Given the description of an element on the screen output the (x, y) to click on. 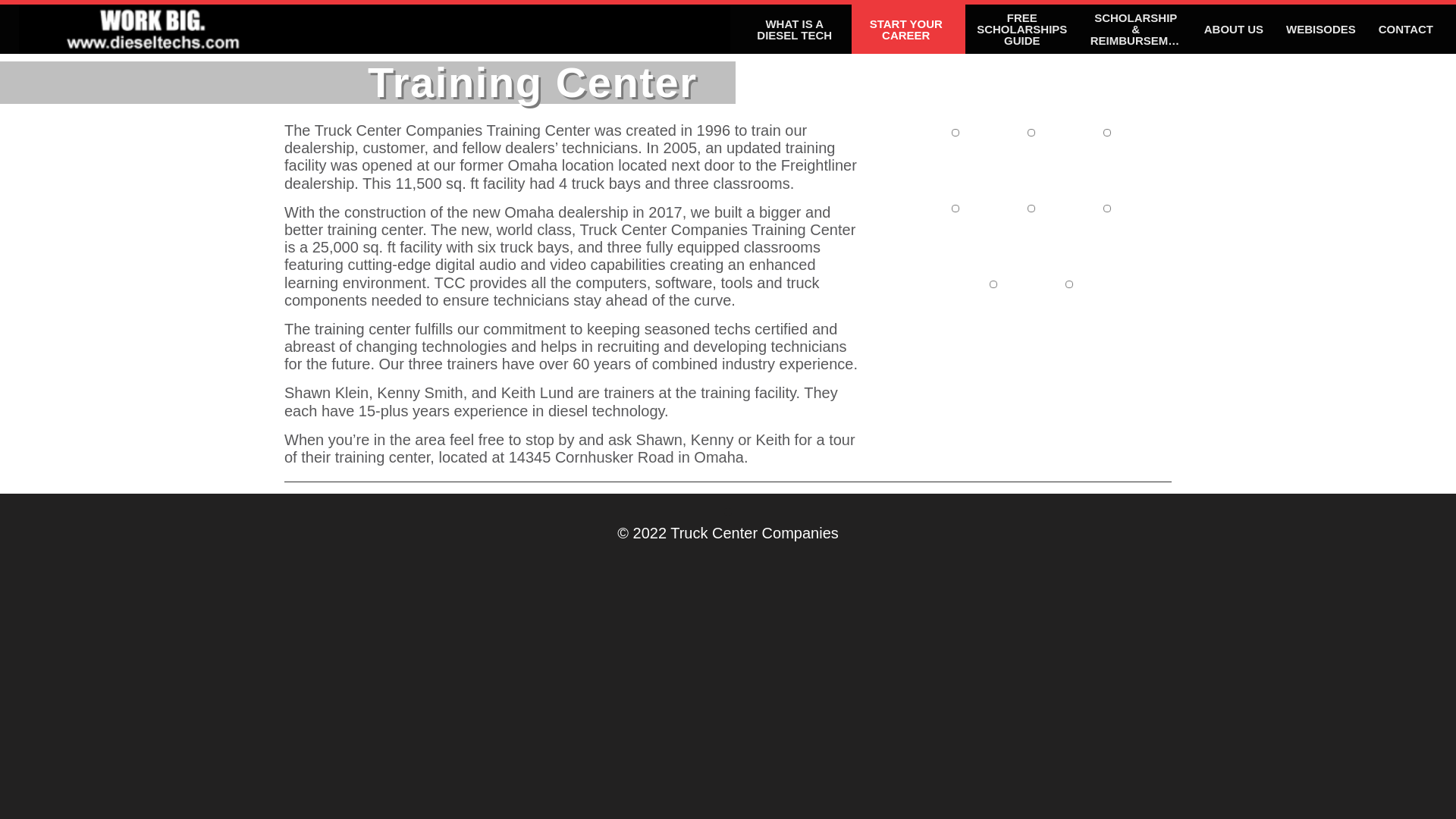
WHAT IS A DIESEL TECH (794, 29)
START YOUR CAREER (908, 29)
CONTACT (1405, 29)
ABOUT US (1233, 29)
WEBISODES (1321, 29)
FREE SCHOLARSHIPS GUIDE (1021, 29)
